Given the description of an element on the screen output the (x, y) to click on. 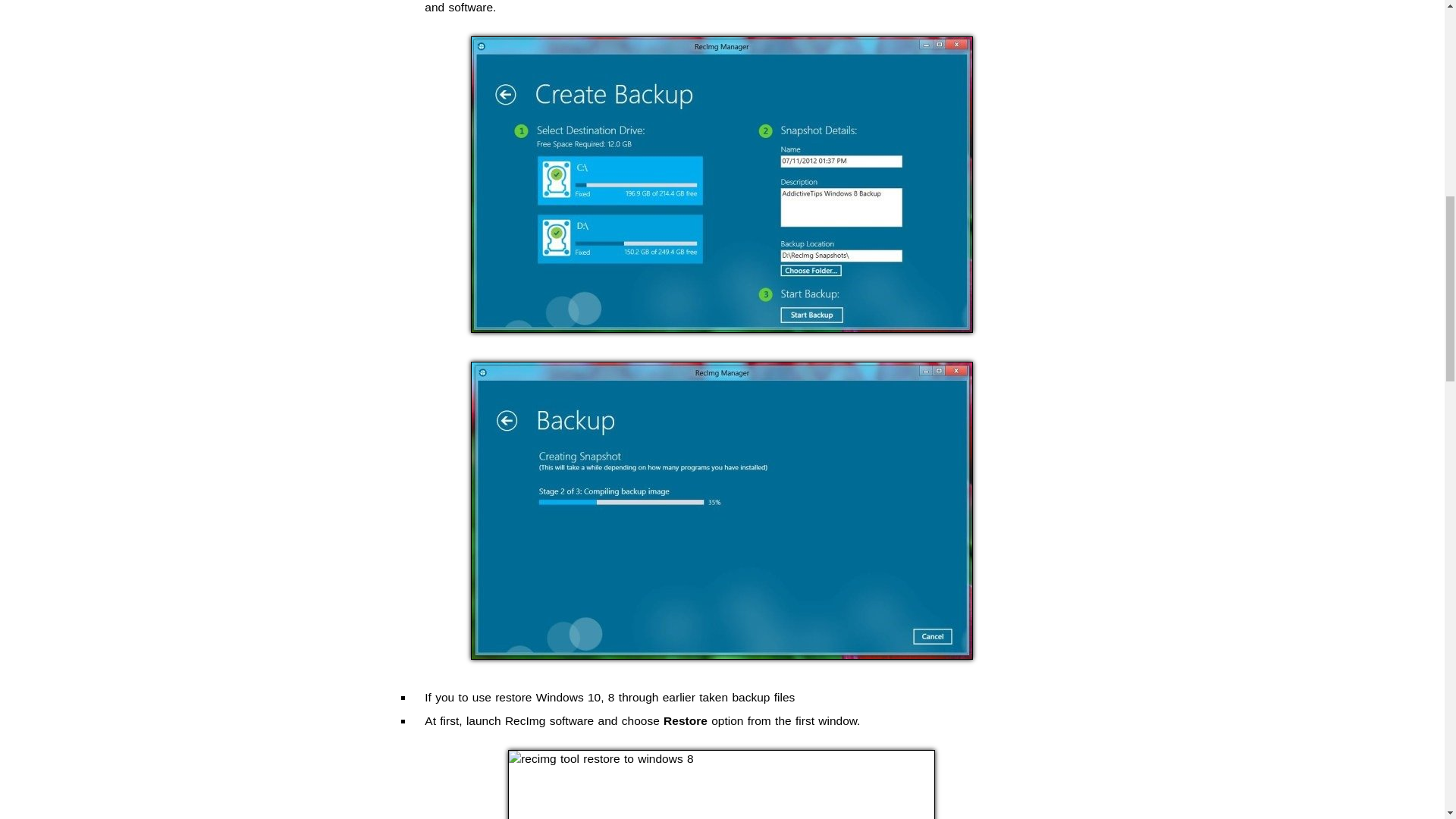
recimg tool restore to windows 8 (721, 784)
